Given the description of an element on the screen output the (x, y) to click on. 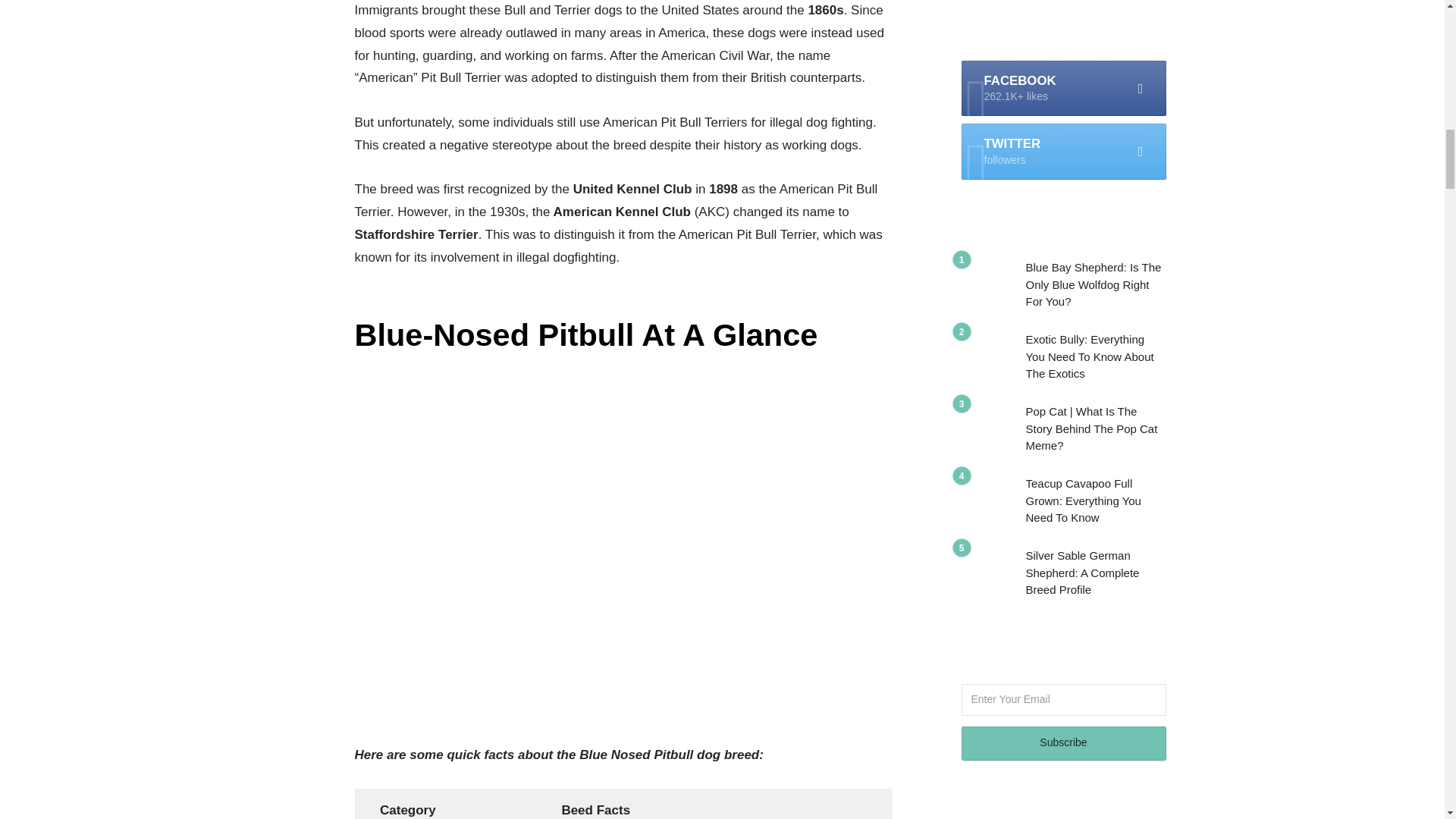
Subscribe (1063, 743)
